Given the description of an element on the screen output the (x, y) to click on. 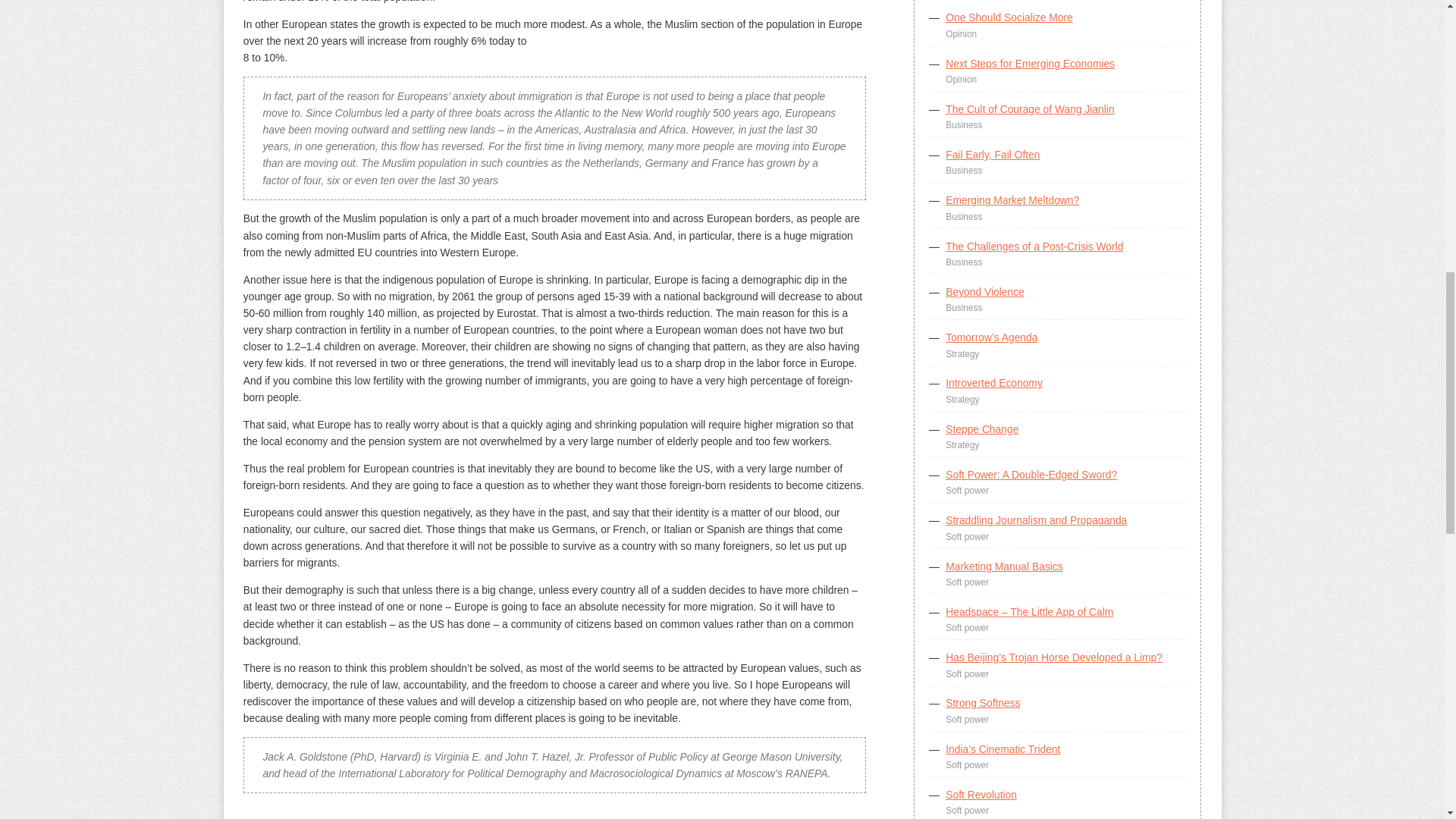
Next Steps for Emerging Economies (1029, 63)
Introverted Economy (993, 382)
Fail Early, Fail Often (991, 154)
One Should Socialize More (1008, 17)
The Challenges of a Post-Crisis World (1033, 246)
Emerging Market Meltdown? (1011, 200)
Soft Power: A Double-Edged Sword? (1030, 474)
Beyond Violence (984, 291)
Marketing Manual Basics (1003, 566)
Strong Softness (982, 702)
